Given the description of an element on the screen output the (x, y) to click on. 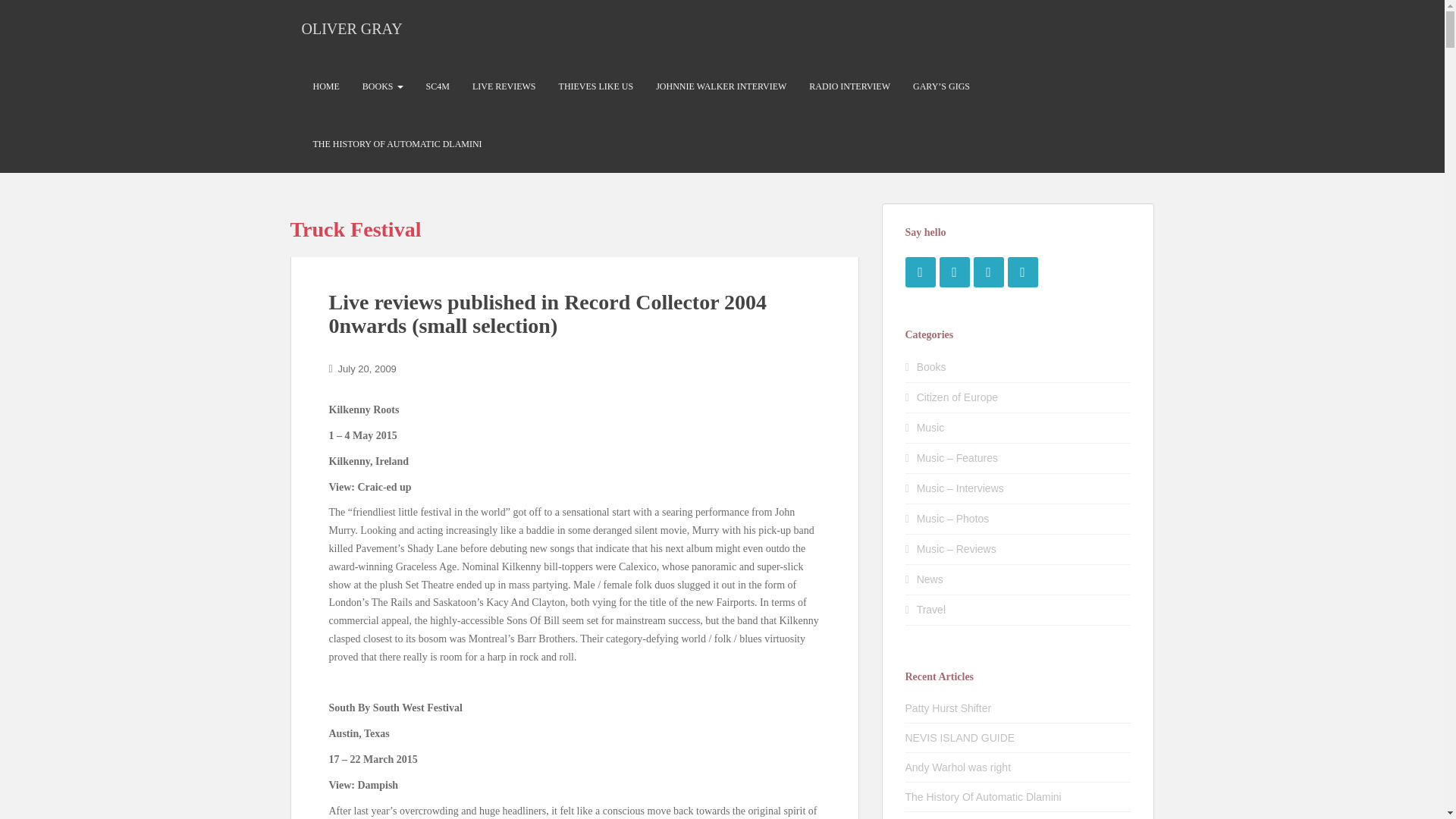
News (930, 579)
Patty Hurst Shifter (948, 707)
JOHNNIE WALKER INTERVIEW (721, 86)
Live Reviews (504, 86)
Johnnie Walker interview (721, 86)
THIEVES LIKE US (596, 86)
Citizen of Europe (957, 397)
July 20, 2009 (366, 368)
THE HISTORY OF AUTOMATIC DLAMINI (397, 143)
BOOKS (382, 86)
Books (931, 367)
RADIO INTERVIEW (849, 86)
OLIVER GRAY (351, 28)
Thieves Like Us (596, 86)
Books (382, 86)
